Given the description of an element on the screen output the (x, y) to click on. 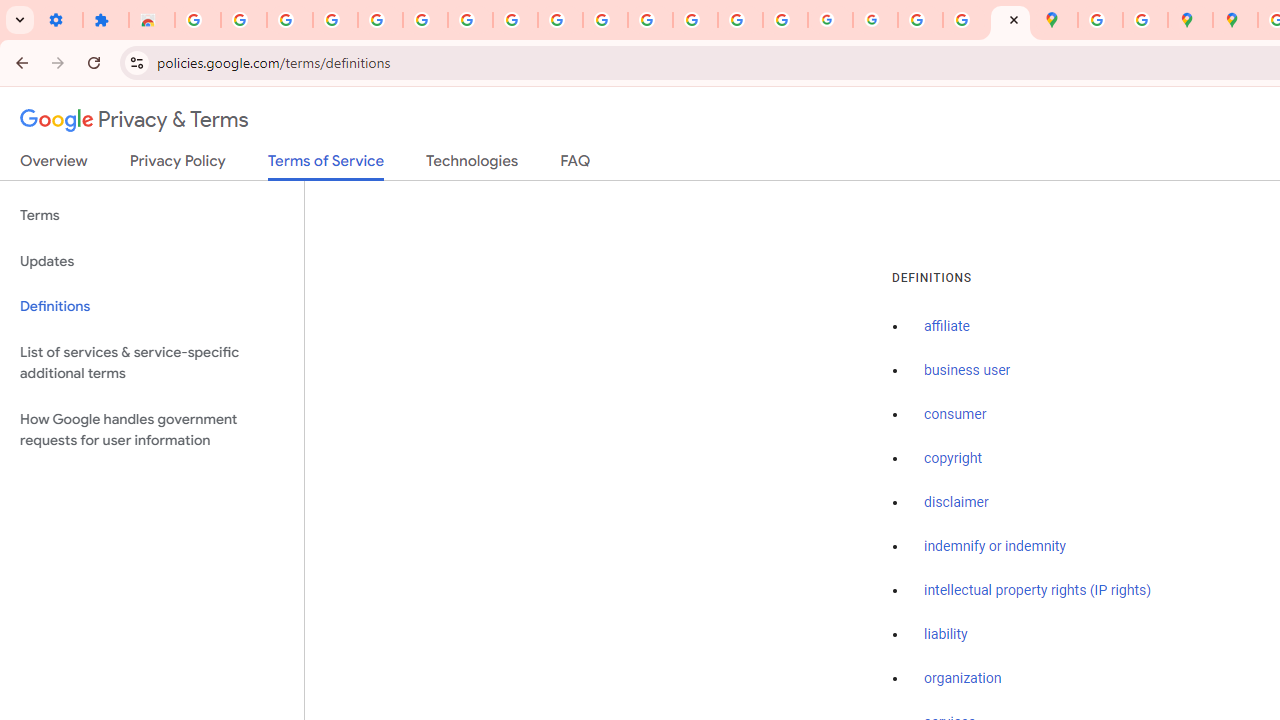
affiliate (947, 327)
organization (963, 679)
How Google handles government requests for user information (152, 429)
